Given the description of an element on the screen output the (x, y) to click on. 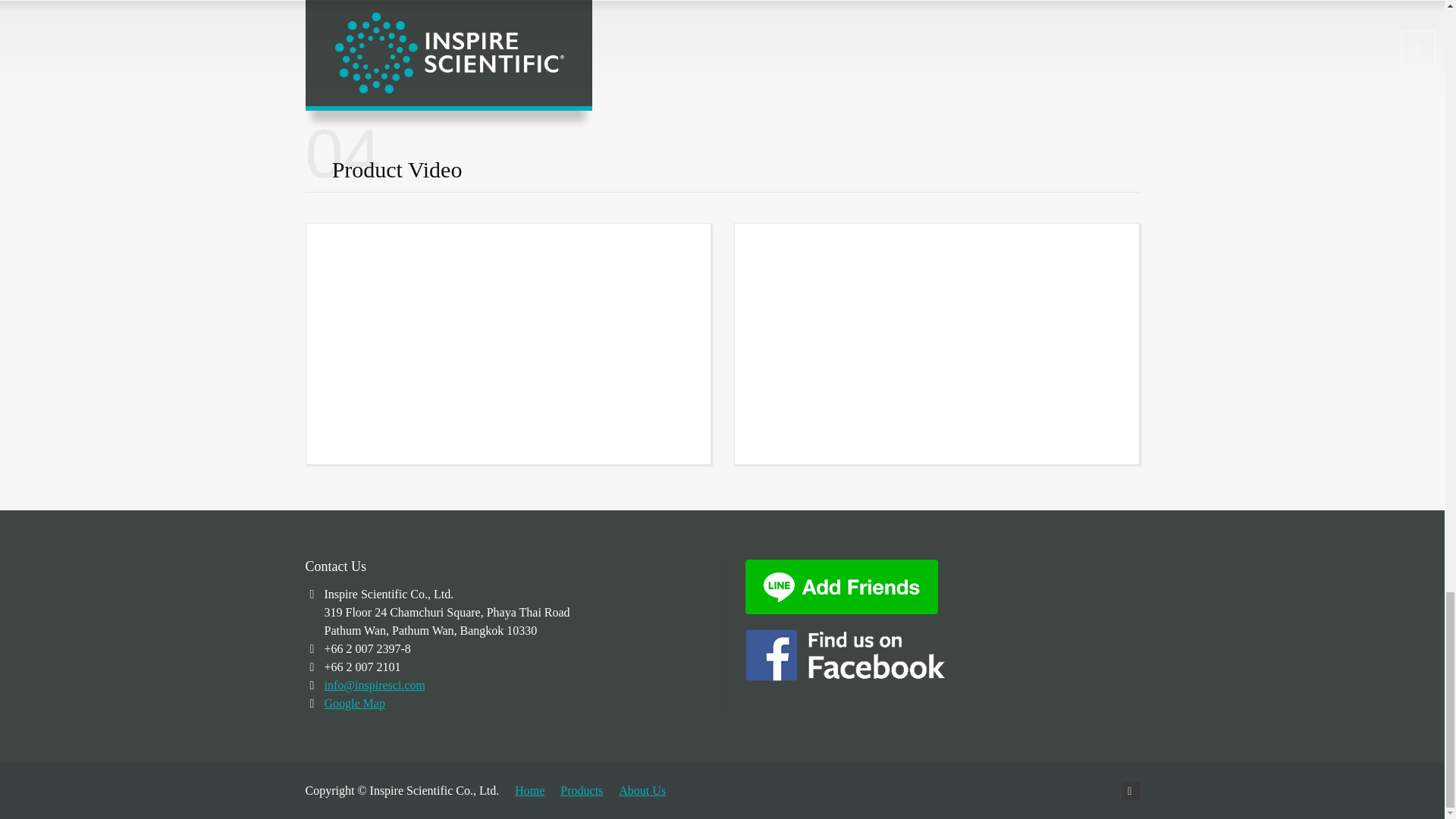
About Us (641, 789)
Products (581, 789)
Home (529, 789)
Google Map (354, 703)
